Given the description of an element on the screen output the (x, y) to click on. 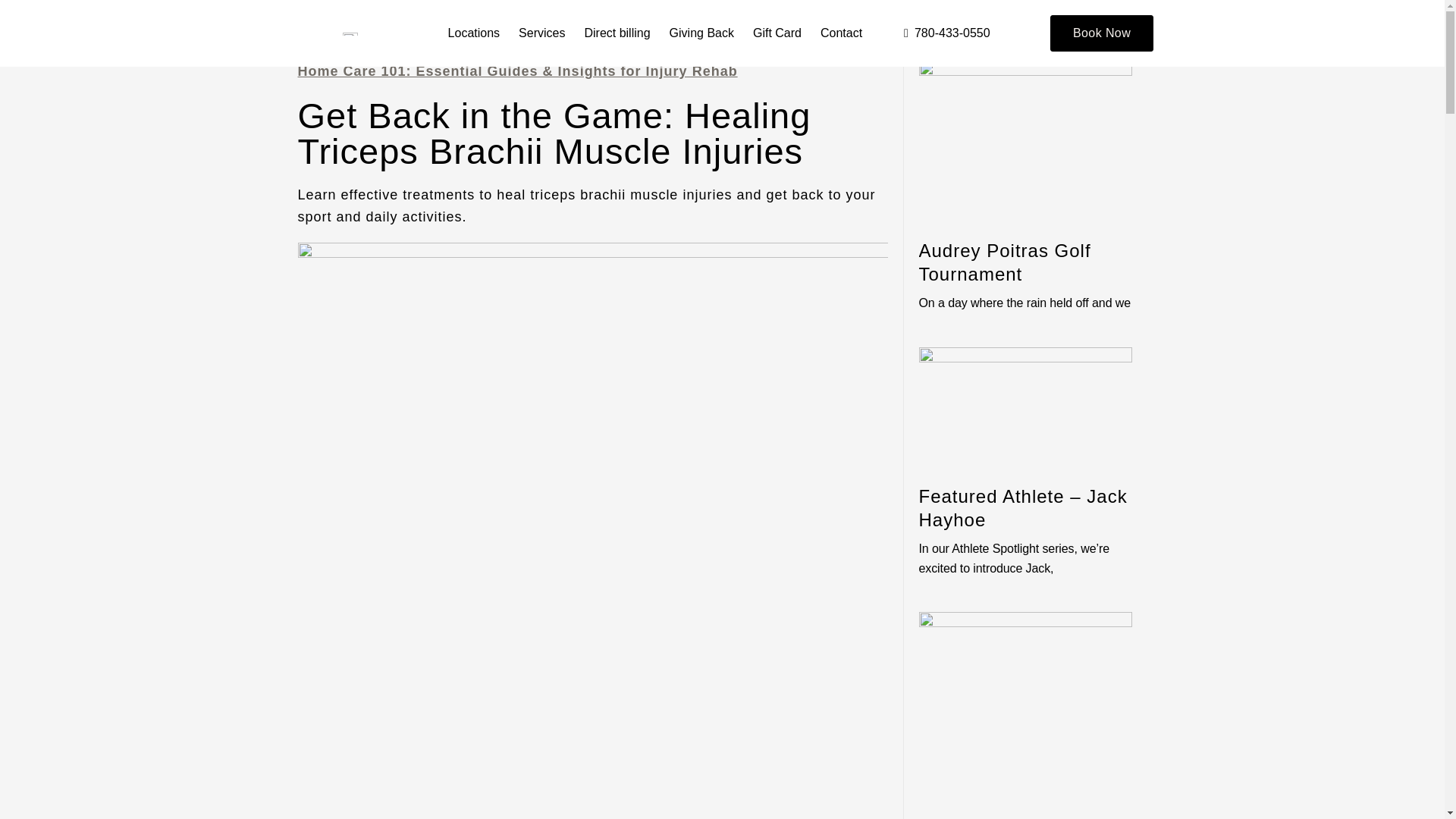
Giving Back (701, 33)
Direct billing (617, 33)
Gift Card (777, 33)
780-433-0550 (935, 33)
Services (541, 33)
Locations (473, 33)
Audrey Poitras Golf Tournament (1004, 262)
Book Now (1101, 33)
Contact (841, 33)
